Given the description of an element on the screen output the (x, y) to click on. 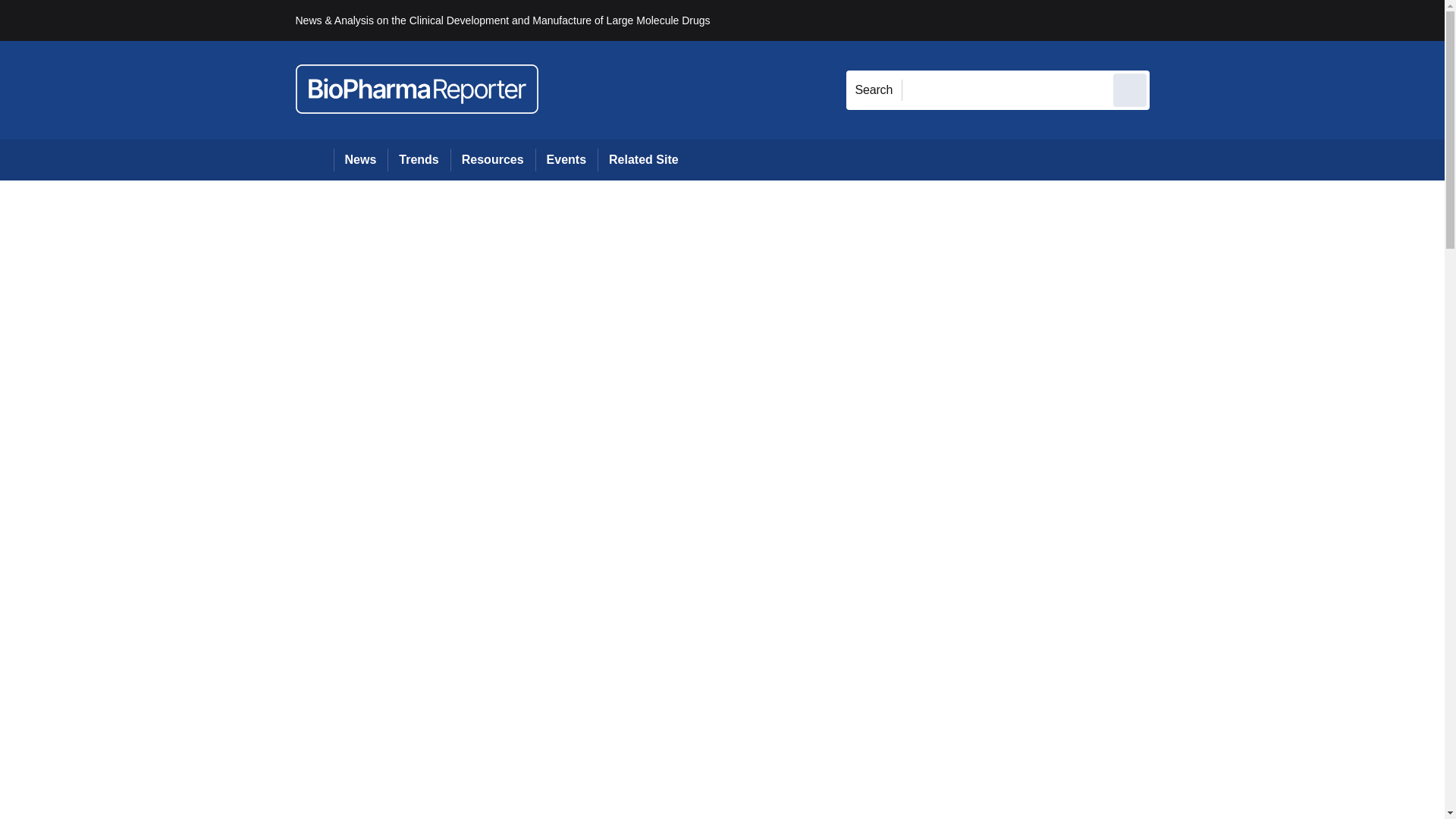
Trends (418, 159)
Send (1129, 89)
My account (1256, 20)
REGISTER (1250, 20)
Send (1129, 90)
Sign out (1174, 20)
Home (314, 159)
BioPharmaReporter (416, 89)
Home (313, 159)
Sign in (1171, 20)
News (360, 159)
Resources (492, 159)
